Given the description of an element on the screen output the (x, y) to click on. 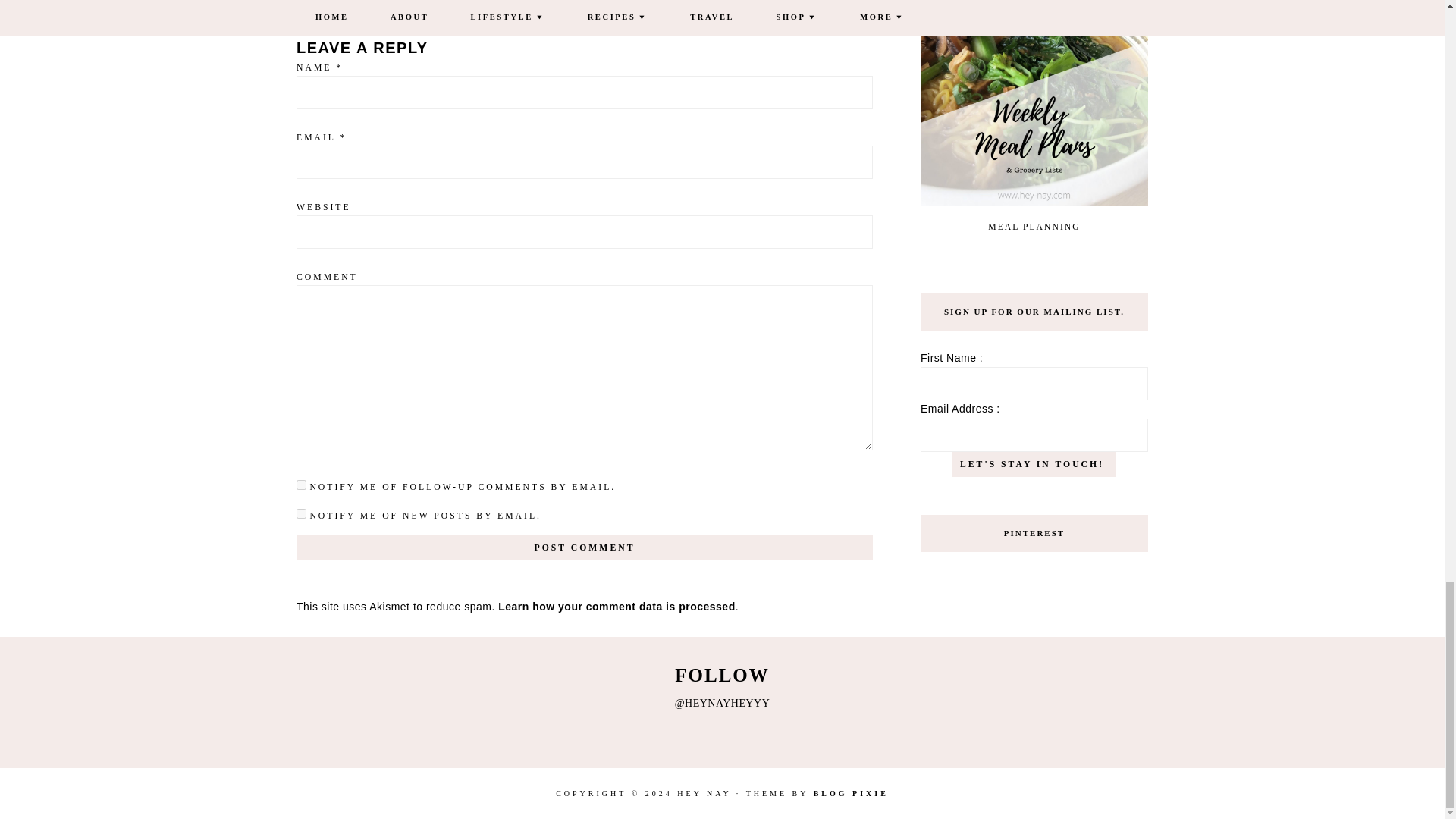
subscribe (301, 484)
Let's stay in touch!  (1034, 464)
Post Comment (584, 547)
subscribe (301, 513)
